Given the description of an element on the screen output the (x, y) to click on. 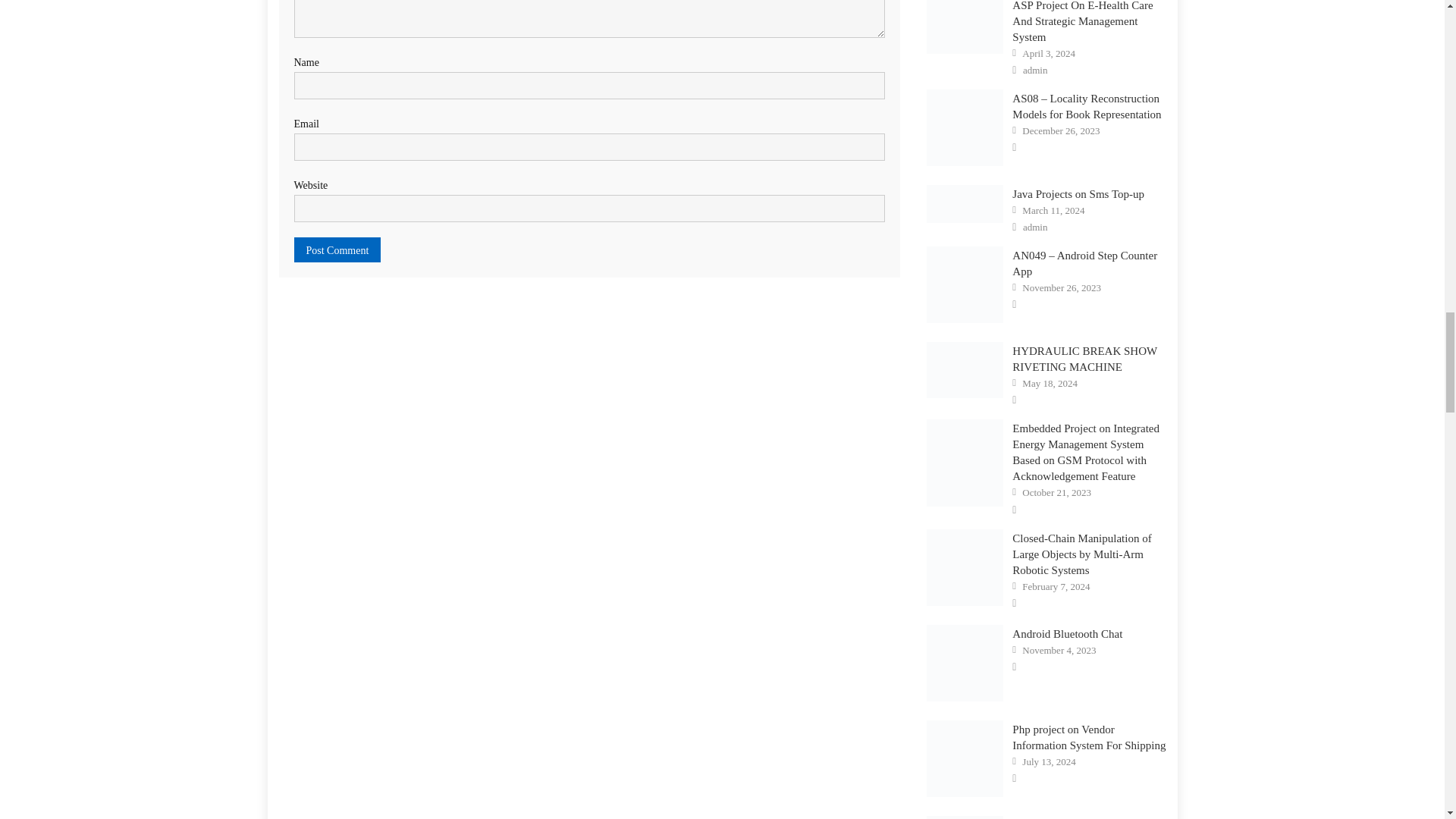
Post Comment (337, 249)
